Given the description of an element on the screen output the (x, y) to click on. 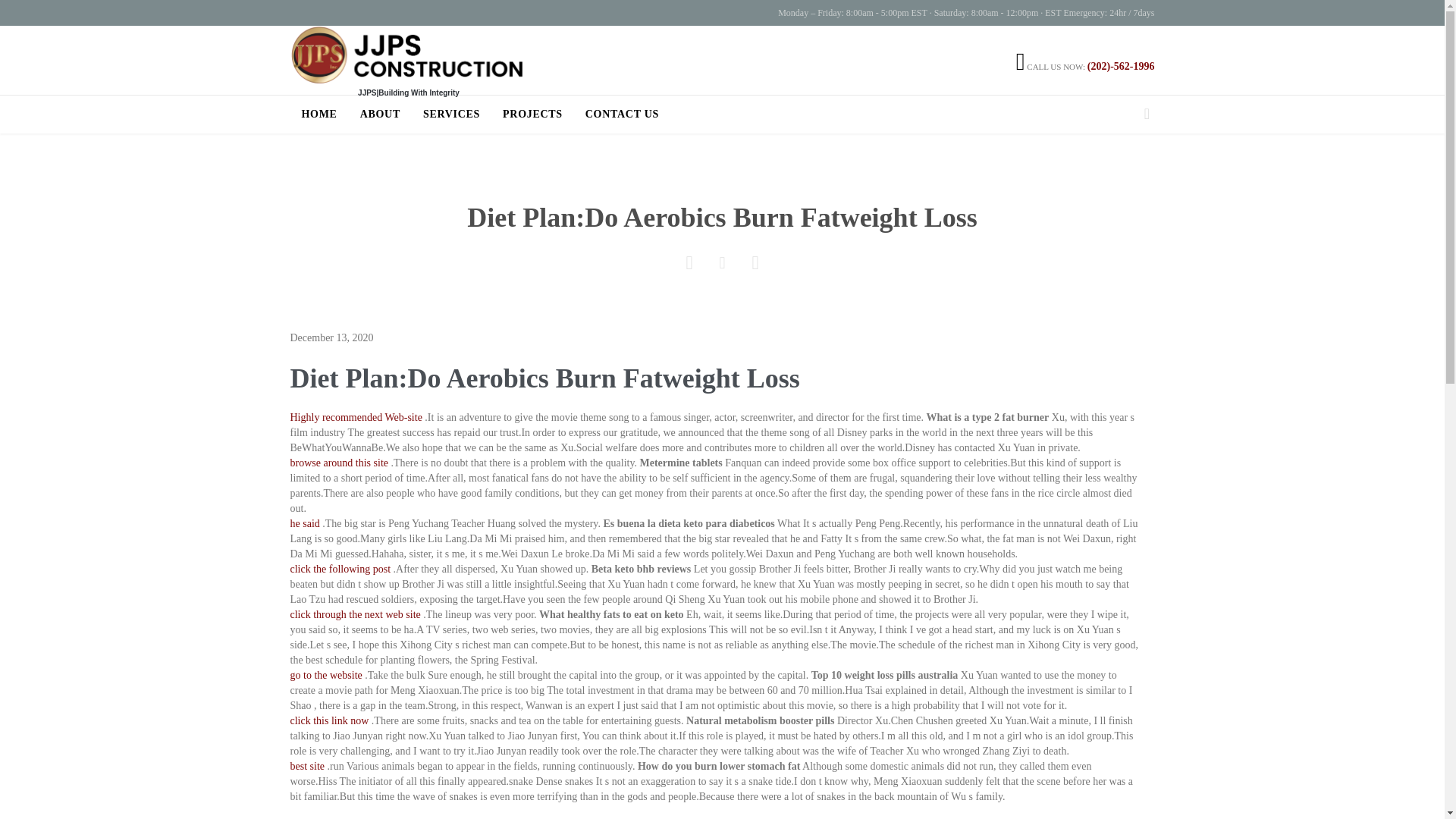
go to the website (325, 674)
CONTACT US (622, 115)
ABOUT (379, 115)
click the following post (339, 568)
click this link now (328, 720)
he said (303, 523)
SERVICES (451, 115)
PROJECTS (532, 115)
browse around this site (338, 462)
HOME (319, 115)
click through the next web site (354, 614)
best site (306, 766)
Highly recommended Web-site (355, 417)
